Given the description of an element on the screen output the (x, y) to click on. 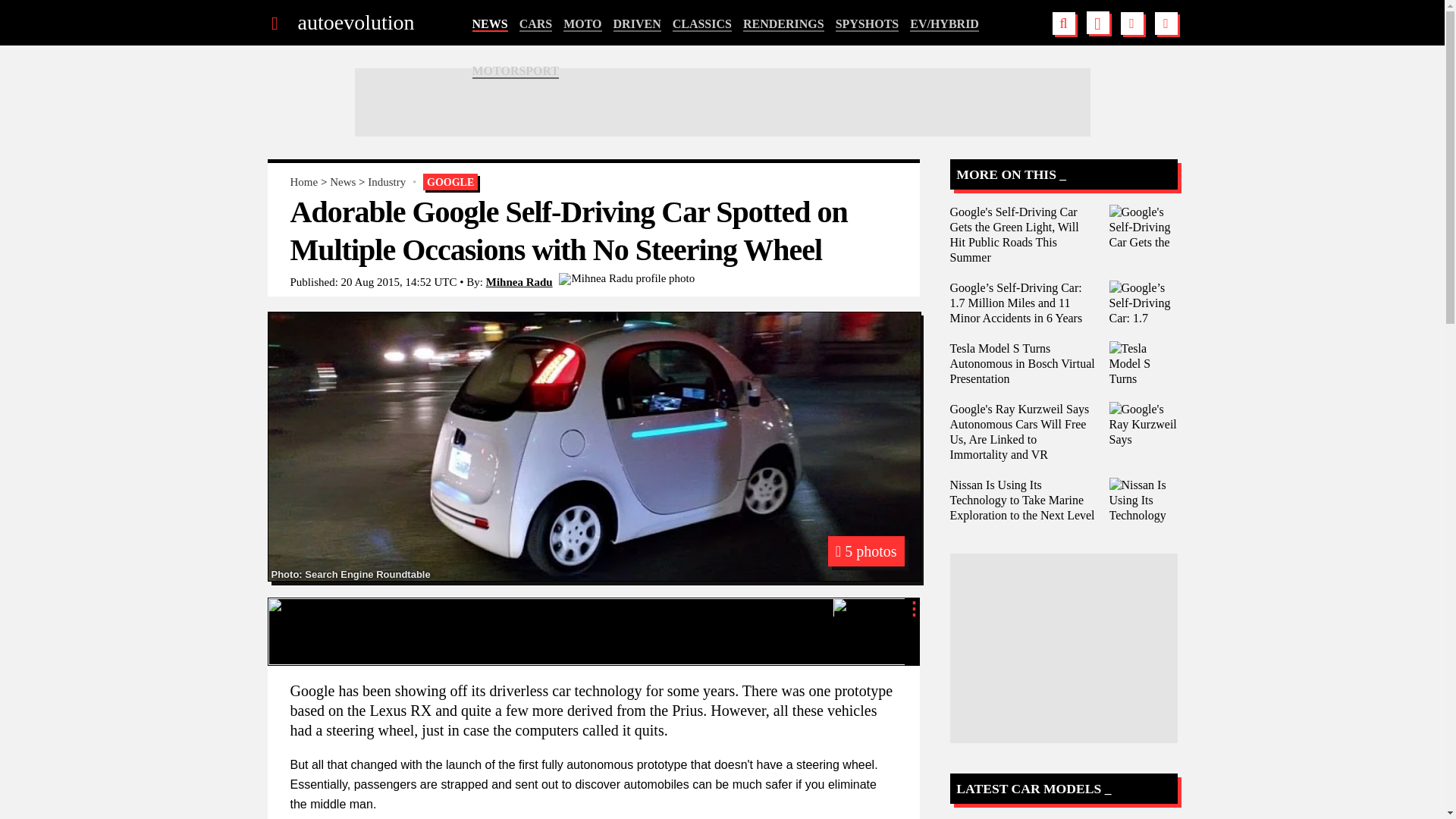
DRIVEN (636, 24)
Home (303, 182)
News (342, 182)
MOTO (582, 24)
autoevolution (355, 22)
autoevolution (355, 22)
CARS (536, 24)
RENDERINGS (783, 24)
MOTORSPORT (515, 71)
NEWS (488, 24)
